Given the description of an element on the screen output the (x, y) to click on. 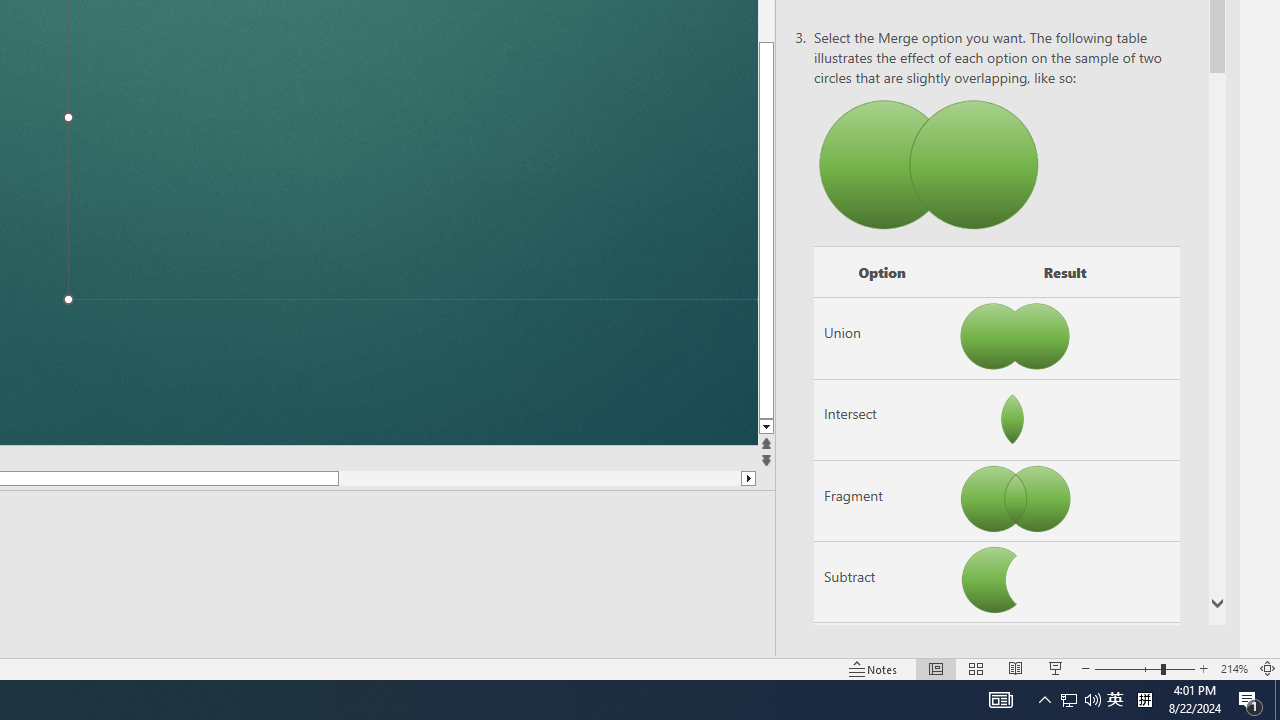
Intersect (881, 419)
Union (881, 338)
Subtract (881, 582)
